Given the description of an element on the screen output the (x, y) to click on. 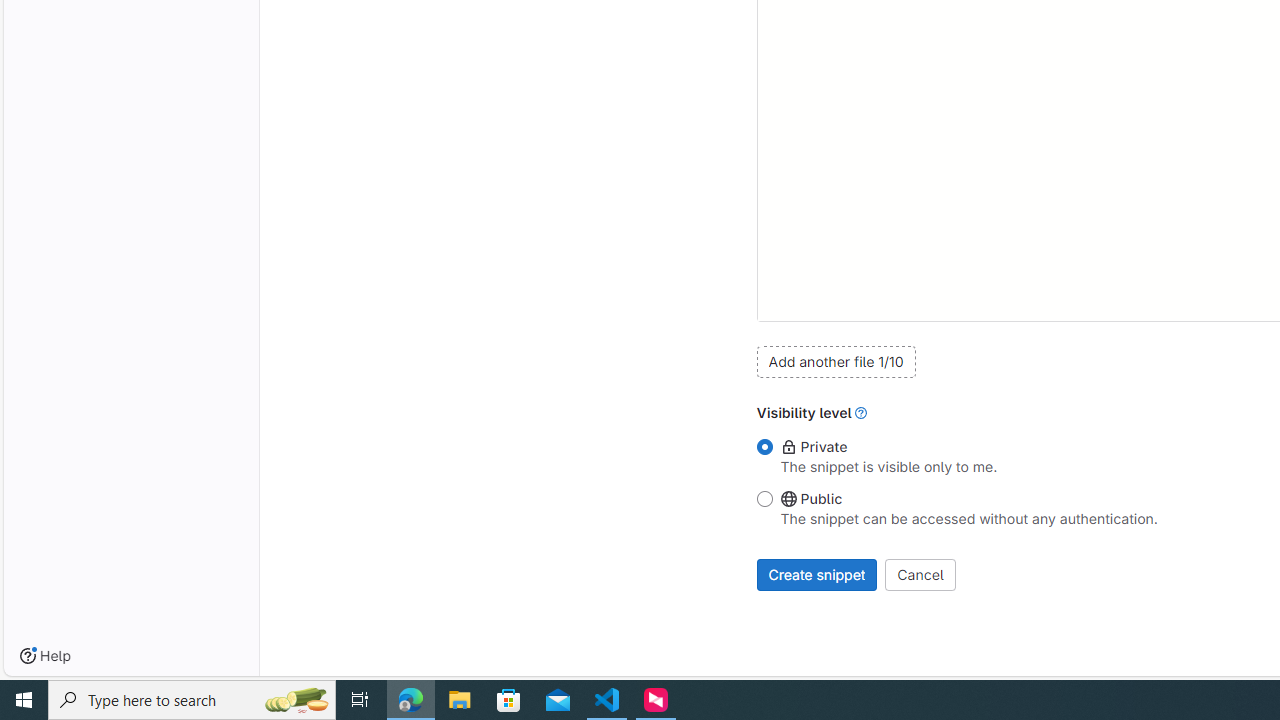
Create snippet (817, 574)
Cancel (920, 574)
Add another file 1/10 (836, 361)
Class: gl-link (861, 412)
Private The snippet is visible only to me. (764, 448)
